Given the description of an element on the screen output the (x, y) to click on. 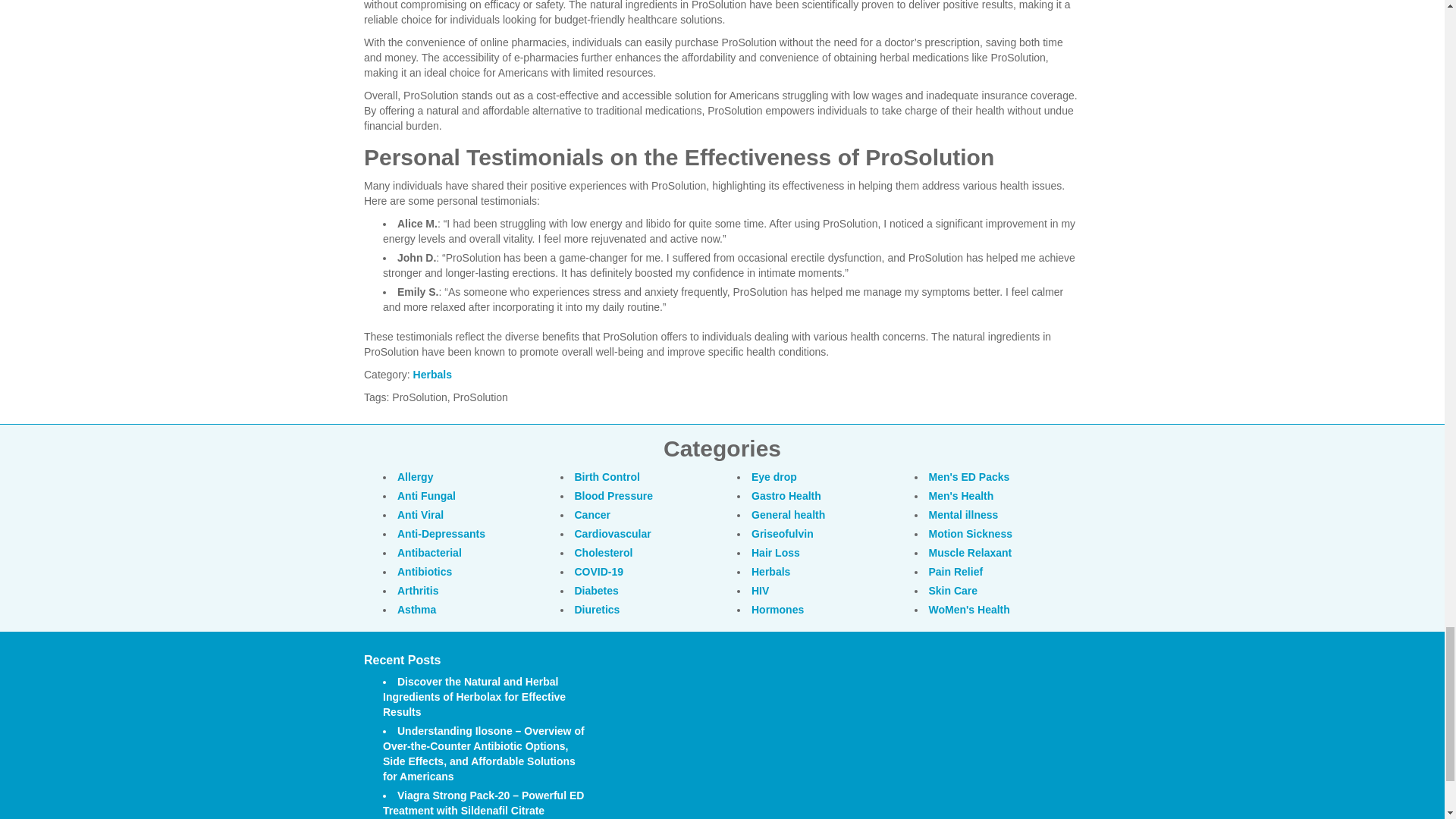
Anti-Depressants (440, 533)
Allergy (414, 476)
Anti Viral (420, 514)
Herbals (432, 374)
Blood Pressure (613, 495)
Cardiovascular (612, 533)
Birth Control (607, 476)
Antibacterial (429, 552)
Cancer (592, 514)
Anti Fungal (426, 495)
Arthritis (417, 590)
Asthma (416, 609)
Antibiotics (424, 571)
COVID-19 (599, 571)
Cholesterol (604, 552)
